Given the description of an element on the screen output the (x, y) to click on. 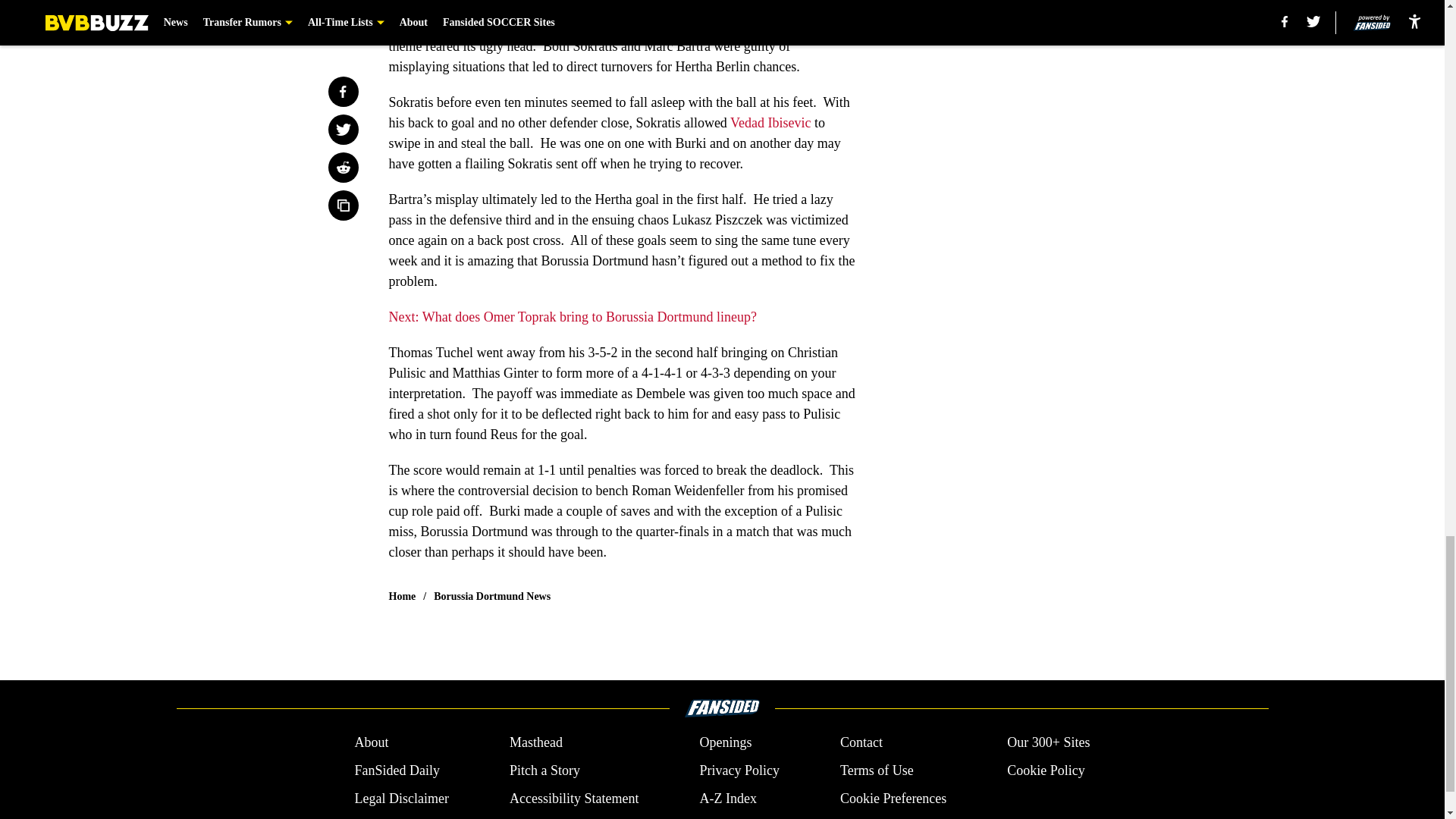
Masthead (535, 742)
Borussia Dortmund News (491, 596)
Contact (861, 742)
Openings (724, 742)
About (370, 742)
Vedad Ibisevic (770, 122)
Home (401, 596)
